Given the description of an element on the screen output the (x, y) to click on. 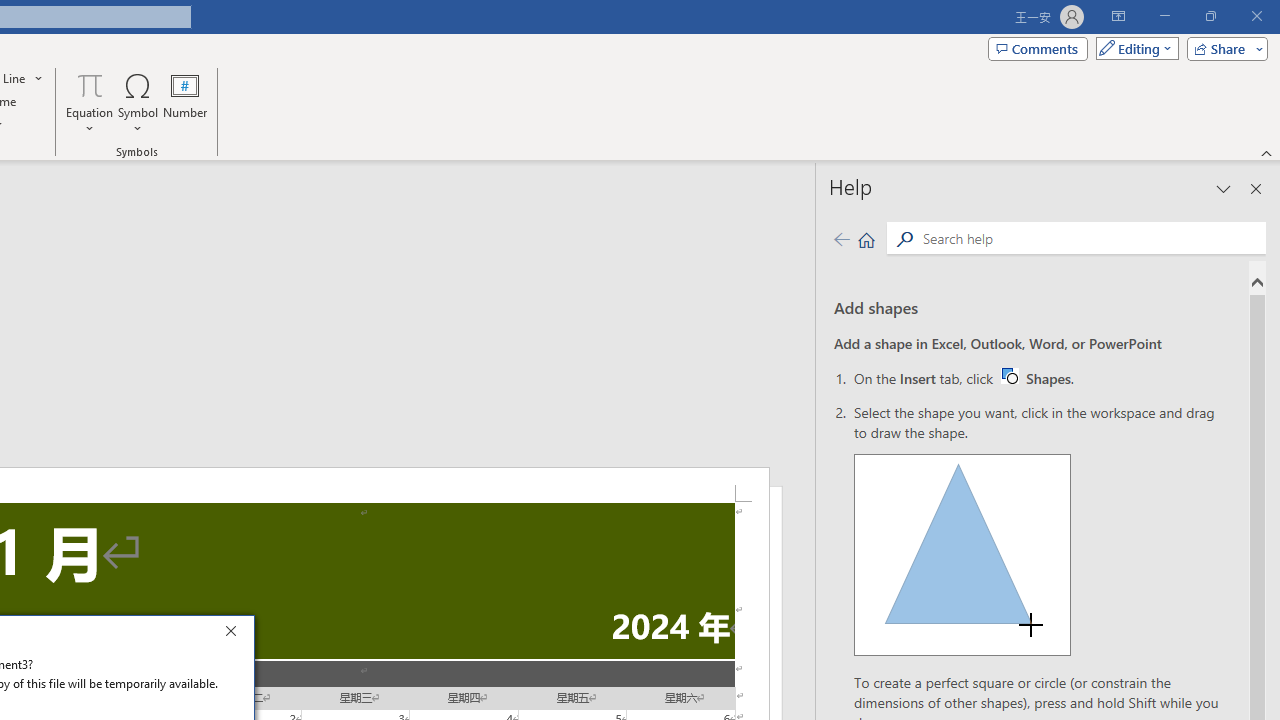
Mode (1036, 377)
Previous page (1133, 47)
